Given the description of an element on the screen output the (x, y) to click on. 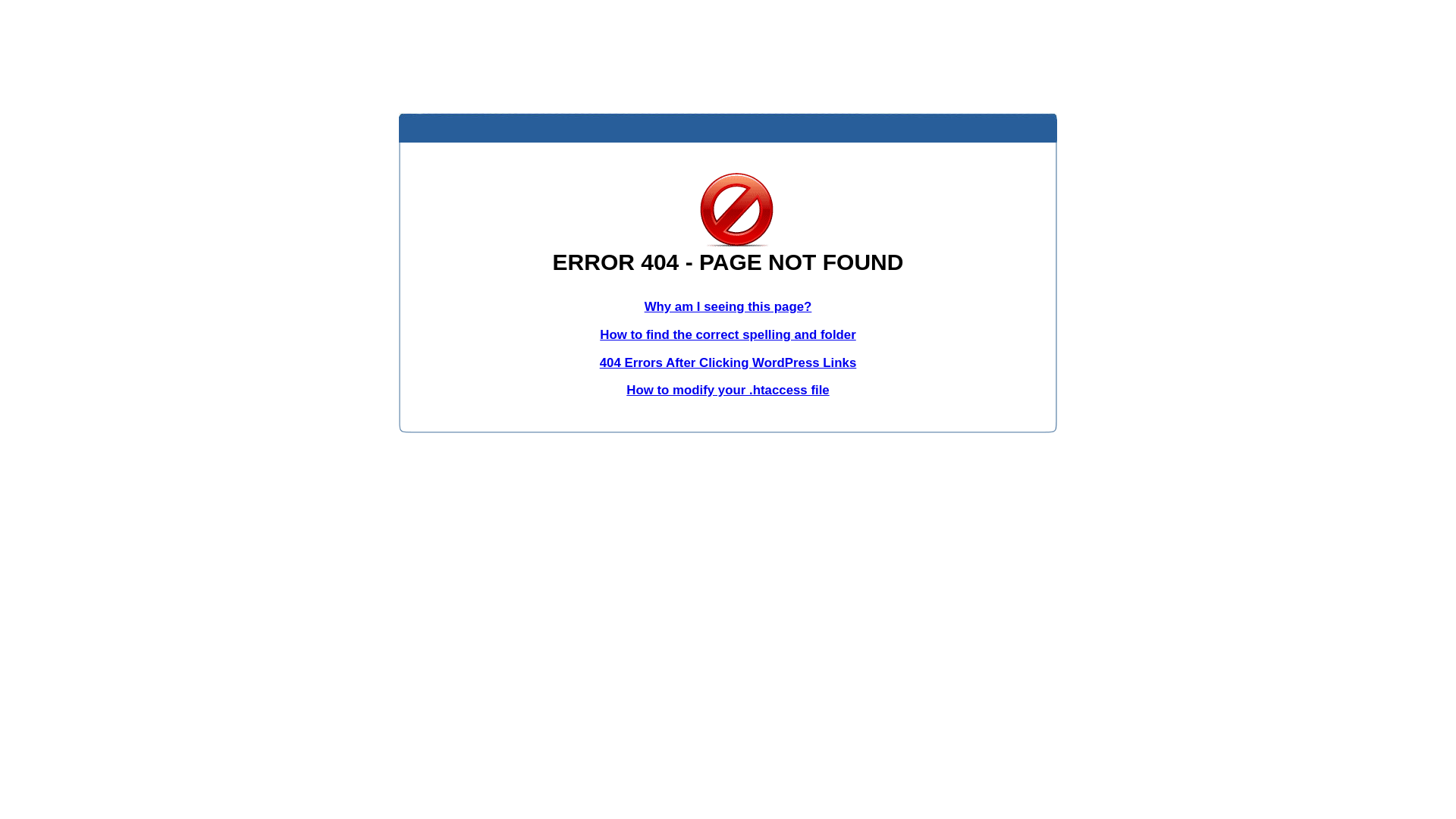
Why am I seeing this page? Element type: text (728, 306)
404 Errors After Clicking WordPress Links Element type: text (727, 362)
How to find the correct spelling and folder Element type: text (727, 334)
How to modify your .htaccess file Element type: text (727, 389)
